Given the description of an element on the screen output the (x, y) to click on. 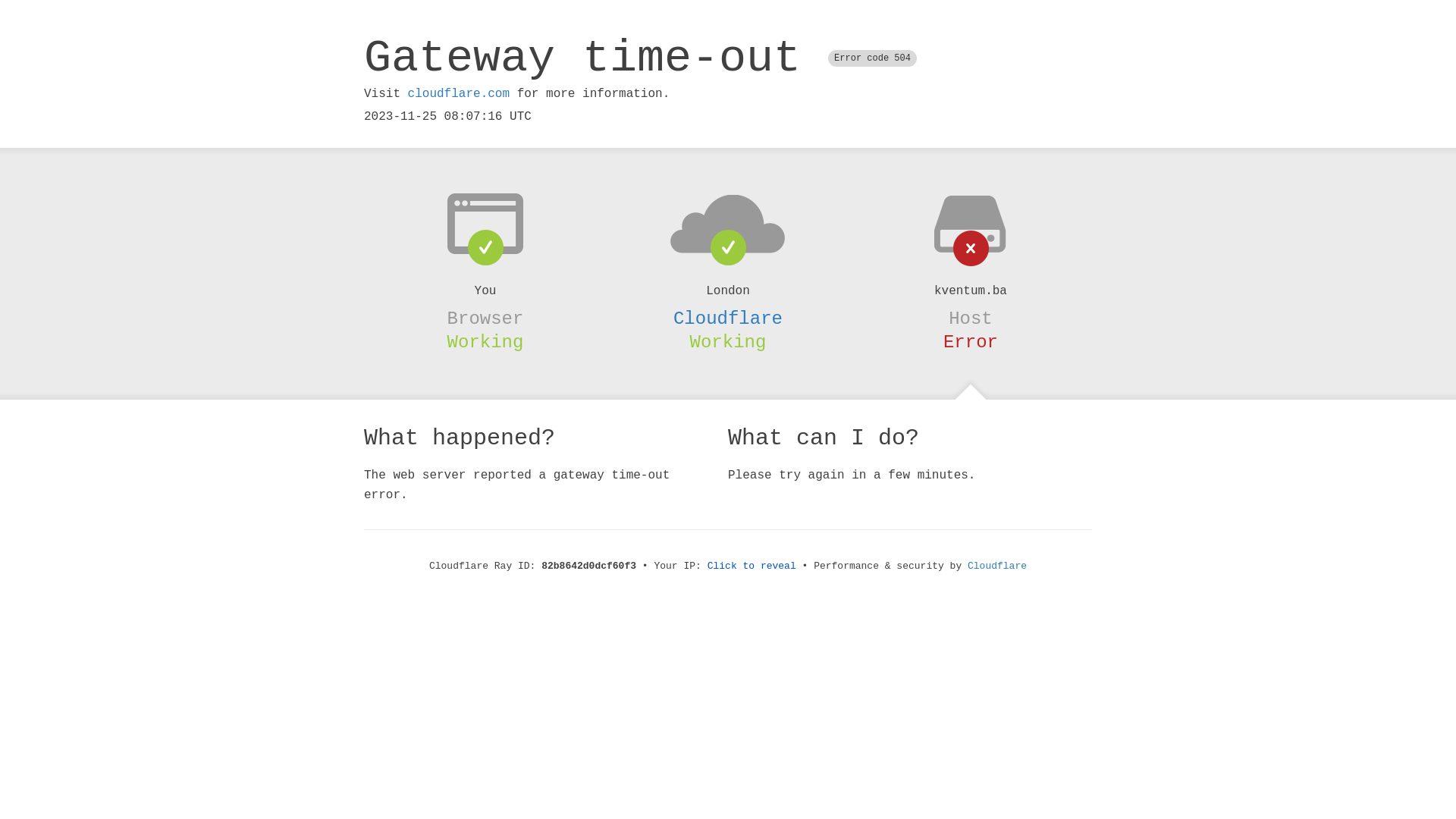
cloudflare.com Element type: text (458, 93)
Click to reveal Element type: text (751, 565)
Cloudflare Element type: text (996, 565)
Cloudflare Element type: text (727, 318)
